Given the description of an element on the screen output the (x, y) to click on. 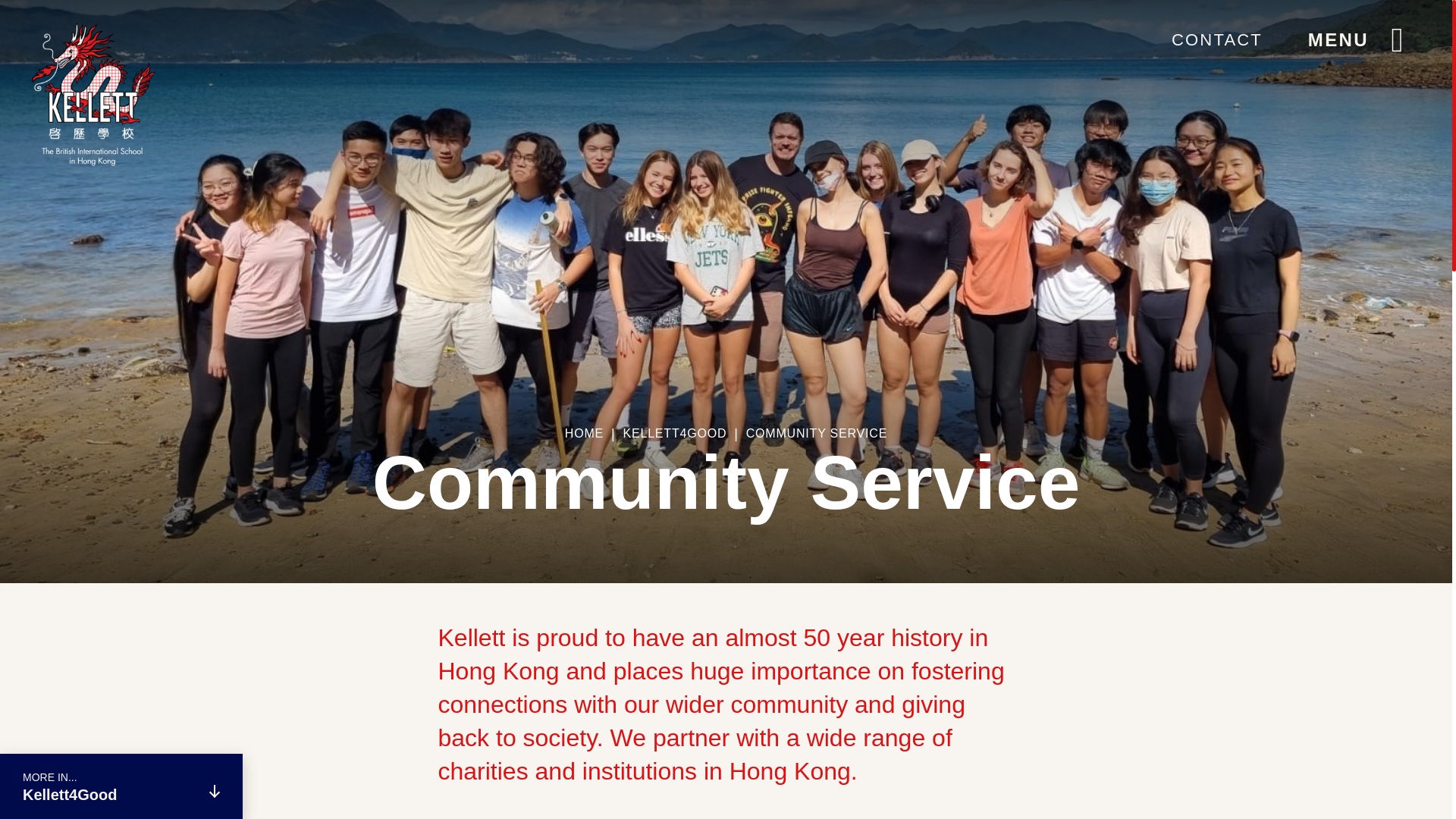
Menu (1360, 39)
CONTACT (1217, 39)
Contact (1217, 39)
MENU (1360, 39)
